Given the description of an element on the screen output the (x, y) to click on. 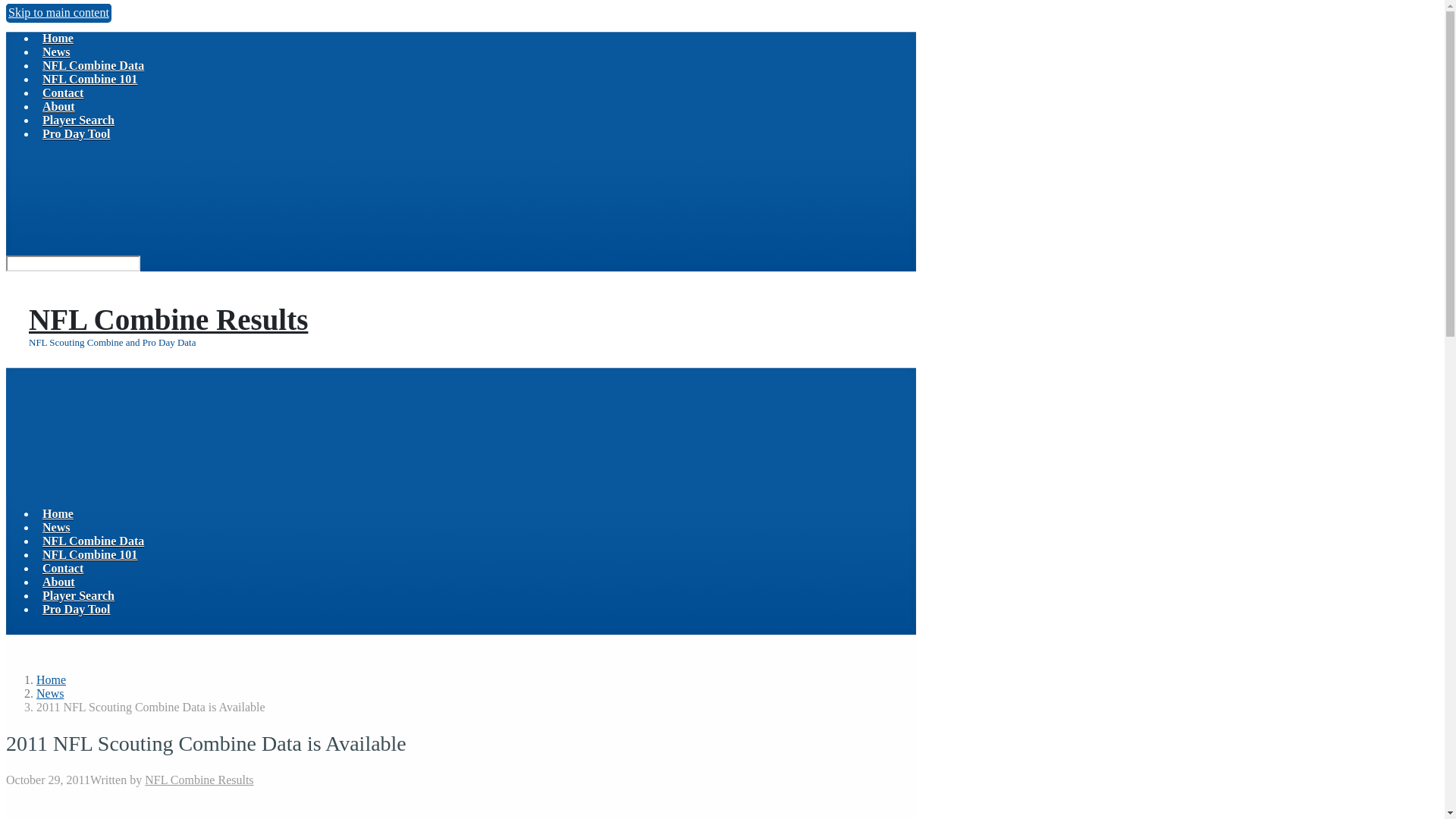
Home (58, 513)
NFL Combine Results (168, 319)
Home (58, 38)
NFL Combine 101 (89, 78)
NFL Combine Data (93, 540)
NFL Combine Data (93, 65)
NFL Combine Results (198, 779)
Contact (62, 567)
News (50, 693)
Player Search (78, 594)
About (58, 106)
View all posts by NFL Combine Results (198, 779)
News (55, 526)
News (55, 51)
News (50, 693)
